Given the description of an element on the screen output the (x, y) to click on. 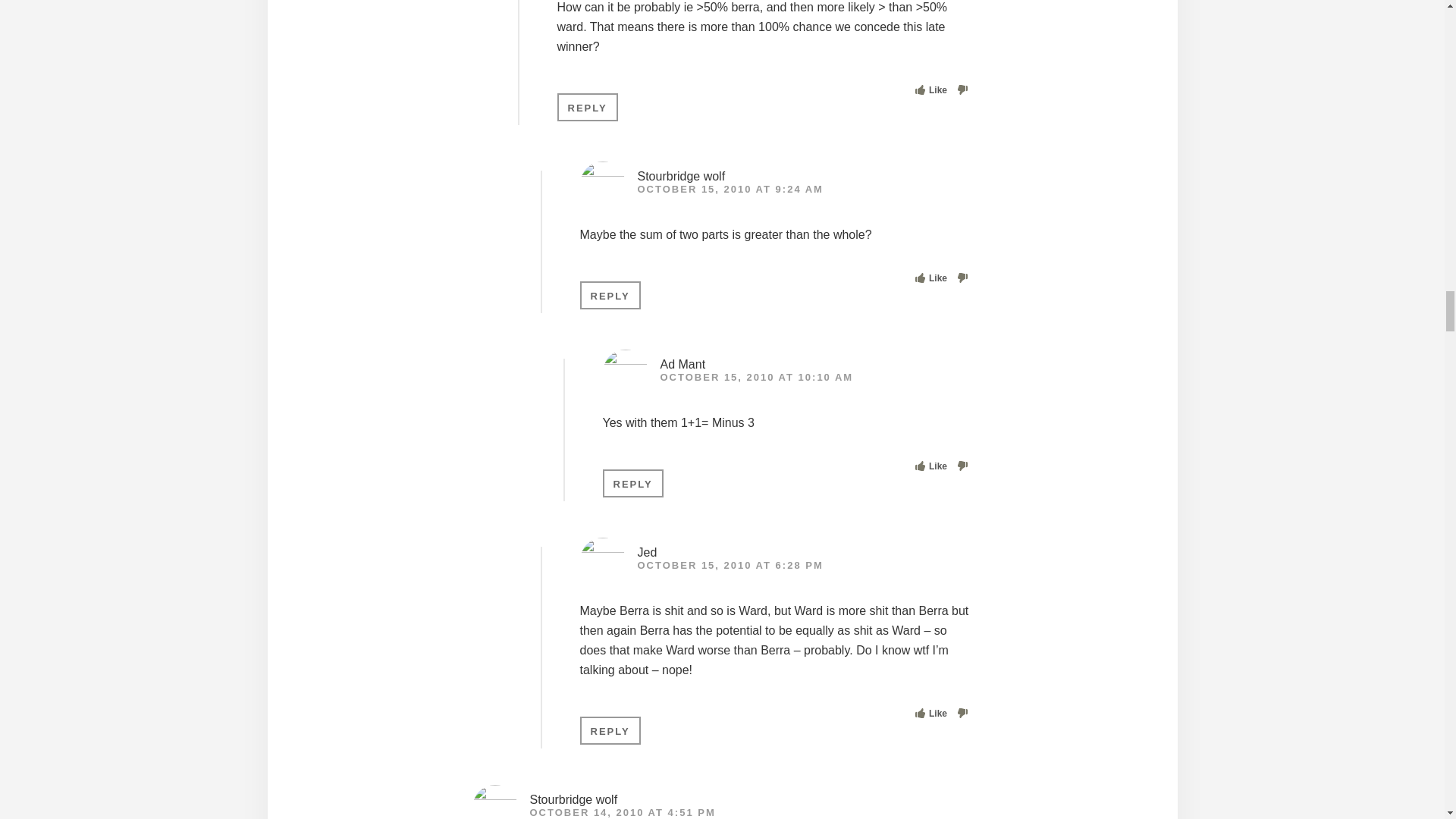
REPLY (609, 295)
OCTOBER 15, 2010 AT 9:24 AM (729, 188)
REPLY (586, 107)
